Given the description of an element on the screen output the (x, y) to click on. 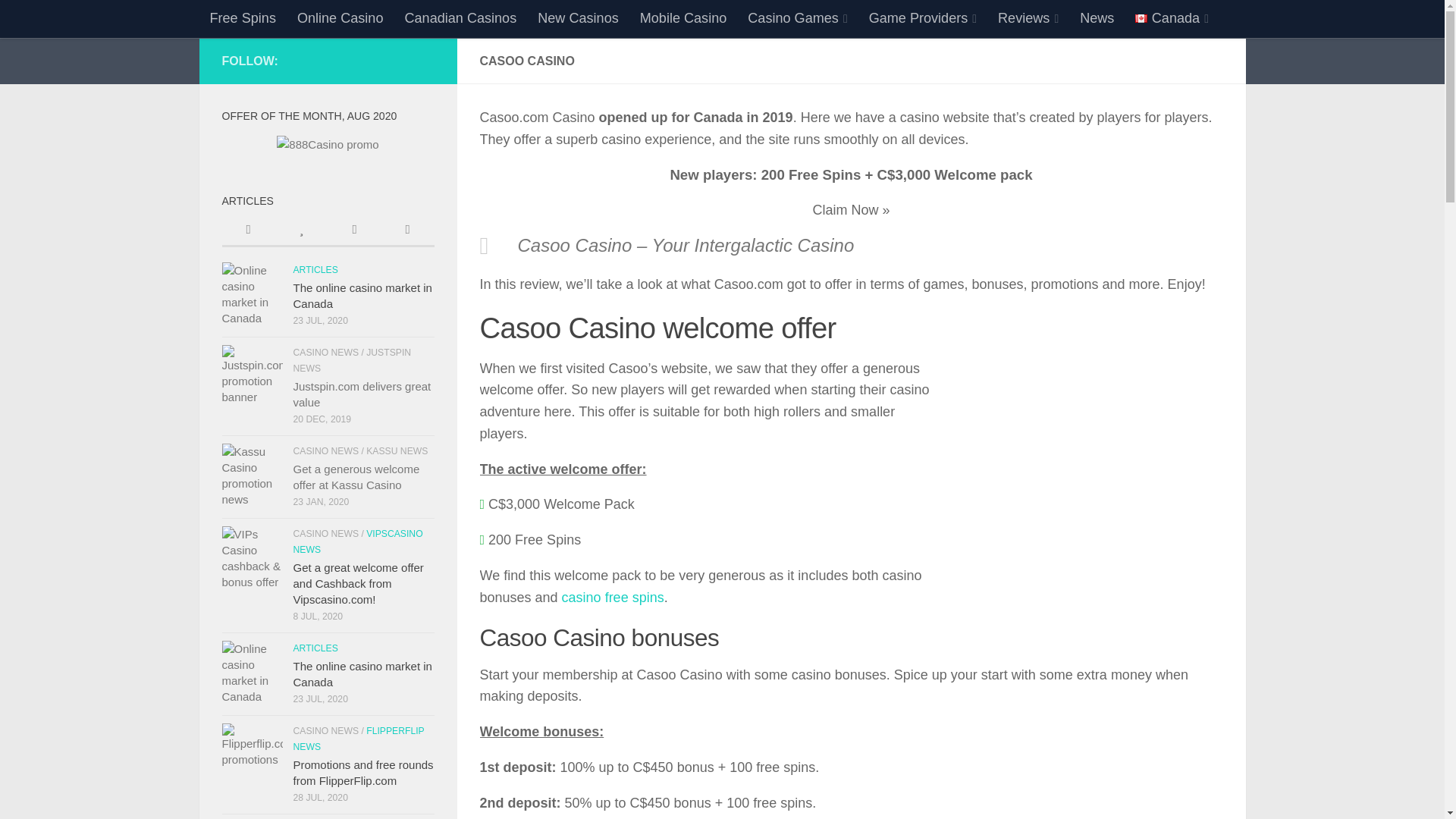
Tags (406, 230)
New Casinos (577, 18)
Reviews (1027, 18)
Game Providers (923, 18)
Canada (1141, 18)
Recent Posts (248, 230)
Online Casino (340, 18)
Mobile Casino (683, 18)
The online casino market in Canada (251, 292)
Free Spins (241, 18)
Canadian Casinos (460, 18)
Popular Posts (301, 230)
Recent Comments (353, 230)
Casino Games (796, 18)
